Given the description of an element on the screen output the (x, y) to click on. 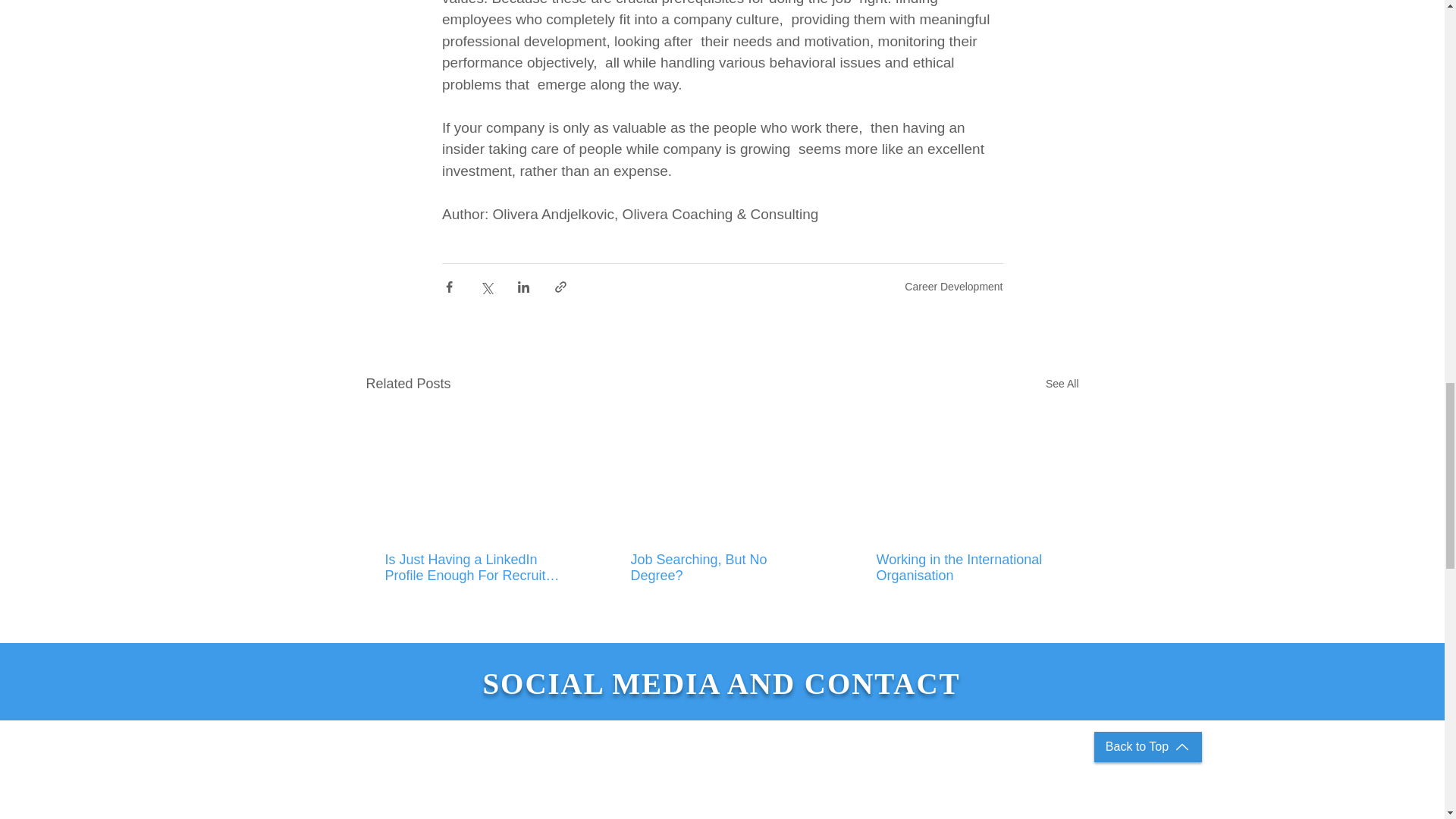
Back to Top (1147, 747)
Career Development (953, 286)
Working in the International Organisation (967, 567)
See All (1061, 383)
Job Searching, But No Degree? (721, 567)
